Given the description of an element on the screen output the (x, y) to click on. 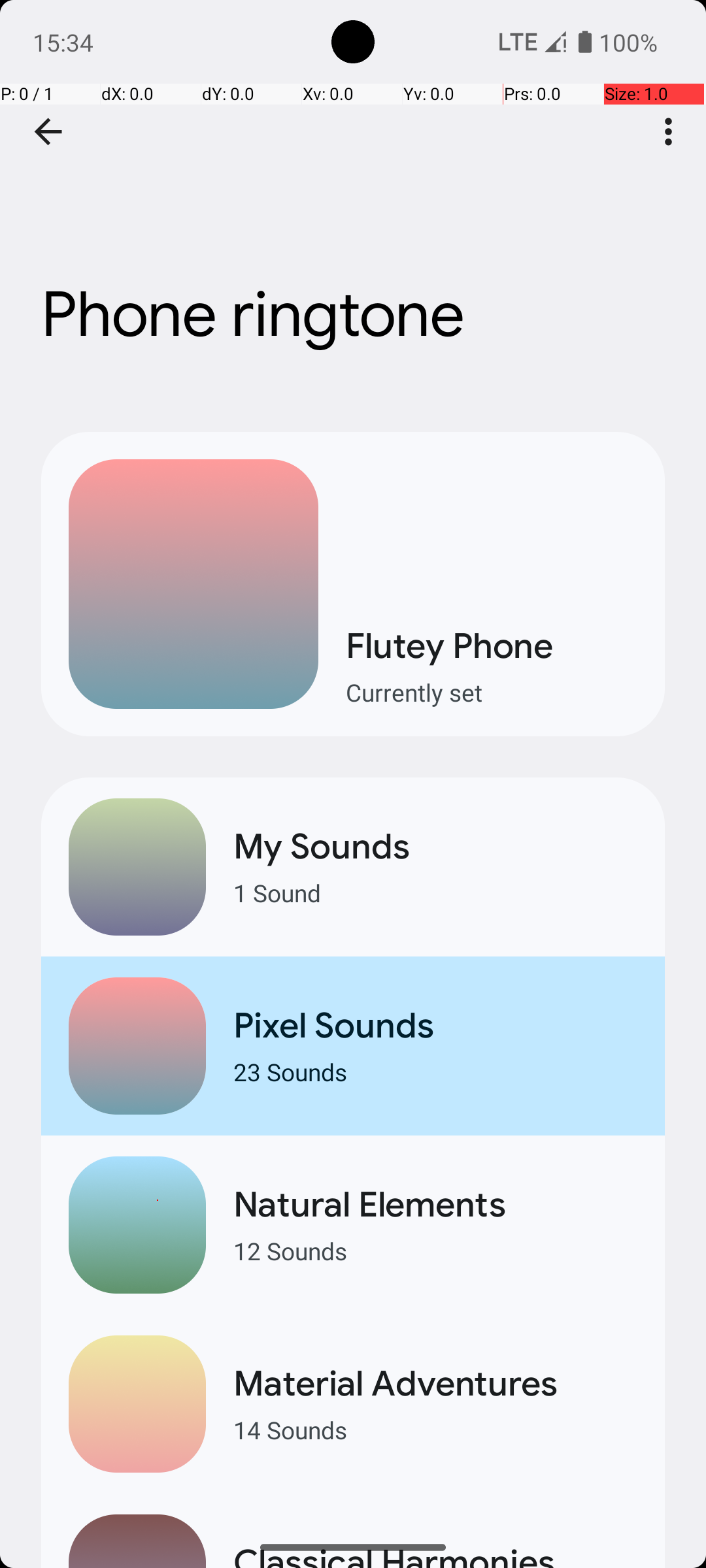
Currently set Element type: android.widget.TextView (491, 691)
My Sounds Element type: android.widget.TextView (435, 846)
Pixel Sounds Element type: android.widget.TextView (435, 1025)
Natural Elements Element type: android.widget.TextView (435, 1204)
12 Sounds Element type: android.widget.TextView (435, 1250)
Material Adventures Element type: android.widget.TextView (435, 1383)
14 Sounds Element type: android.widget.TextView (435, 1429)
Classical Harmonies Element type: android.widget.TextView (435, 1554)
